Given the description of an element on the screen output the (x, y) to click on. 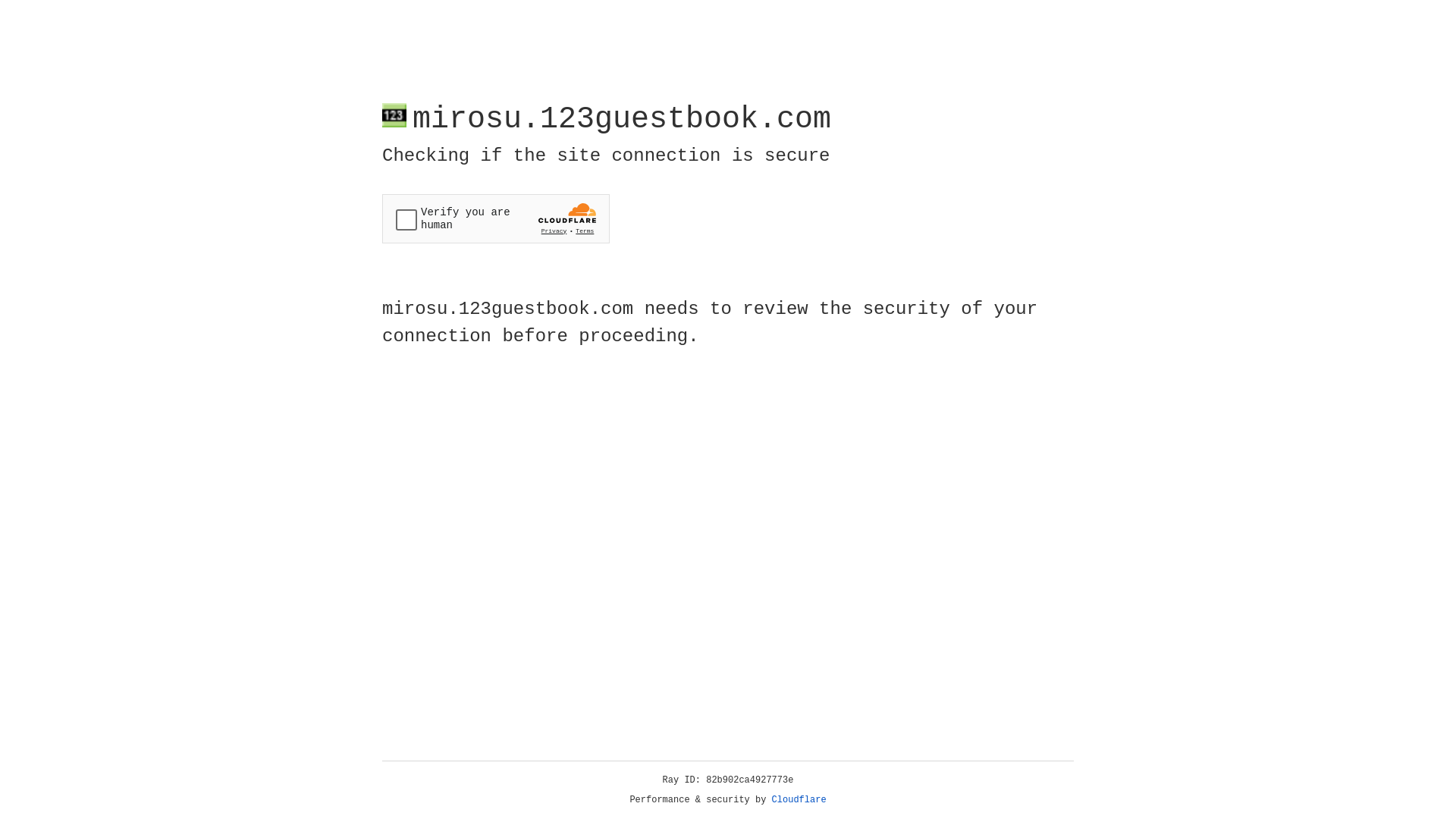
Cloudflare Element type: text (798, 799)
Widget containing a Cloudflare security challenge Element type: hover (495, 218)
